Given the description of an element on the screen output the (x, y) to click on. 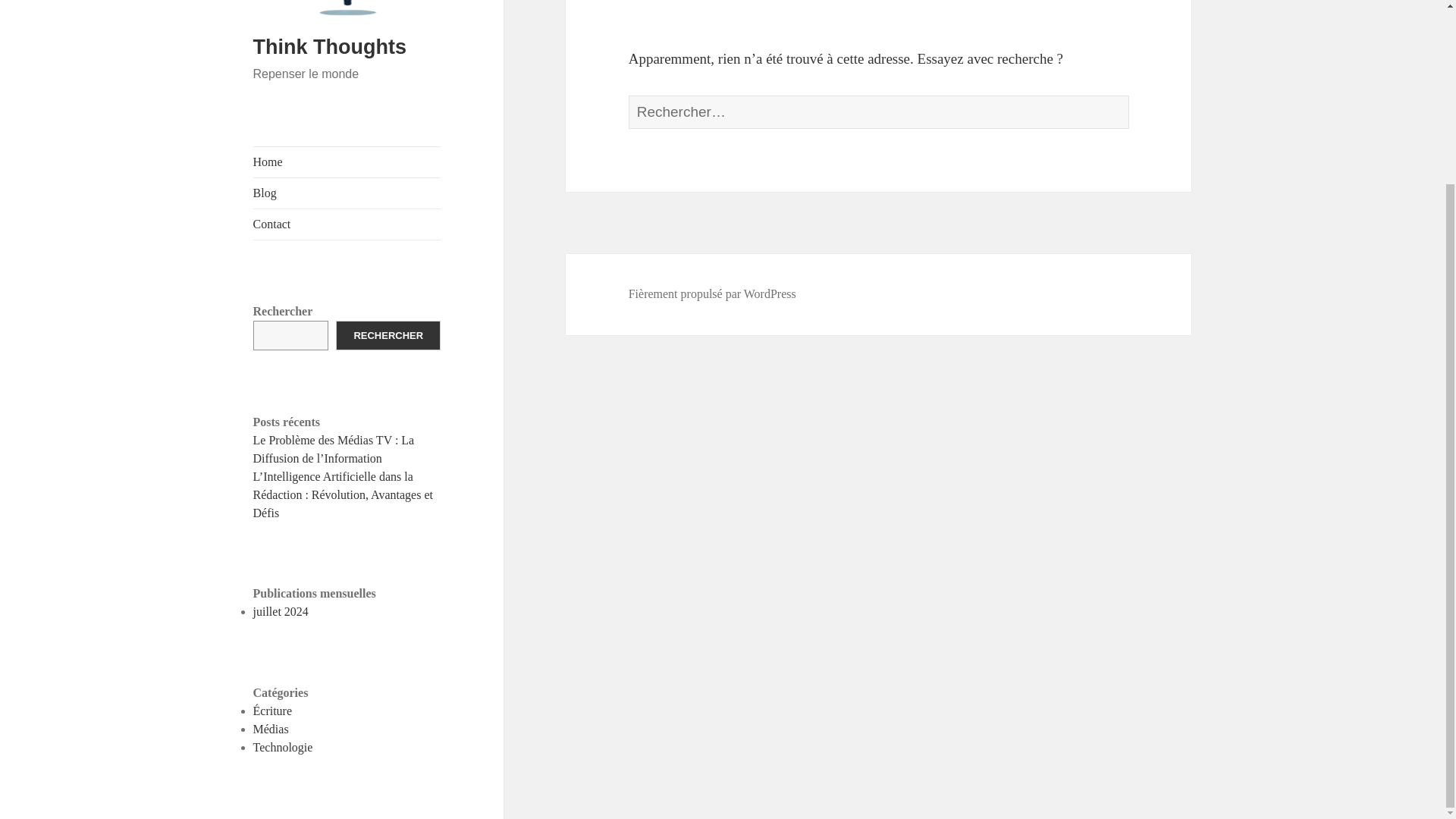
Home (347, 162)
RECHERCHER (388, 335)
Technologie (283, 747)
juillet 2024 (280, 611)
Think Thoughts (329, 47)
Blog (347, 193)
Contact (347, 224)
